Given the description of an element on the screen output the (x, y) to click on. 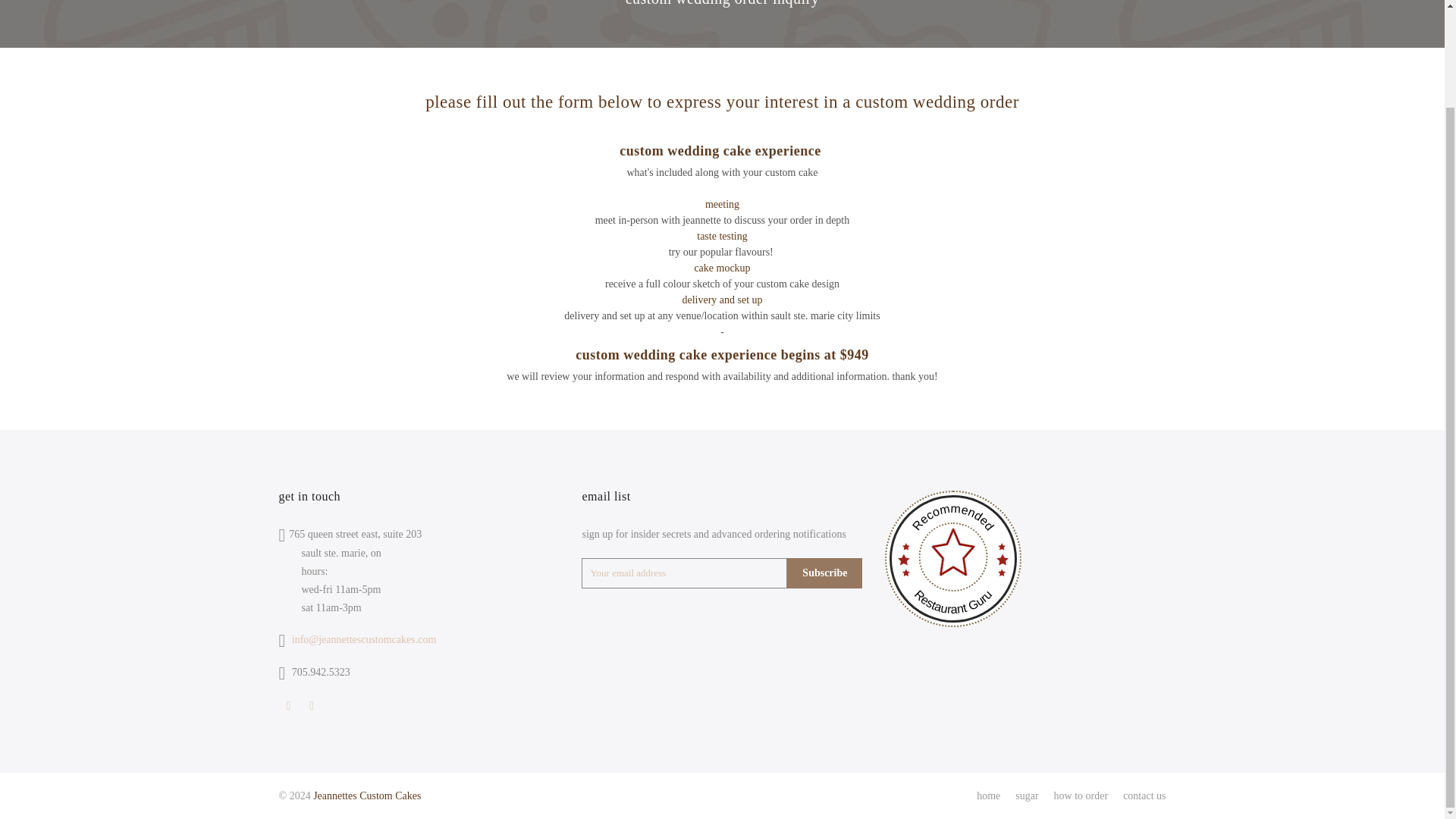
Recommended (952, 554)
Restaurant Guru (952, 561)
how to order (1081, 795)
sugar (1026, 795)
Subscribe (824, 572)
contact us (1144, 795)
home (988, 795)
